Given the description of an element on the screen output the (x, y) to click on. 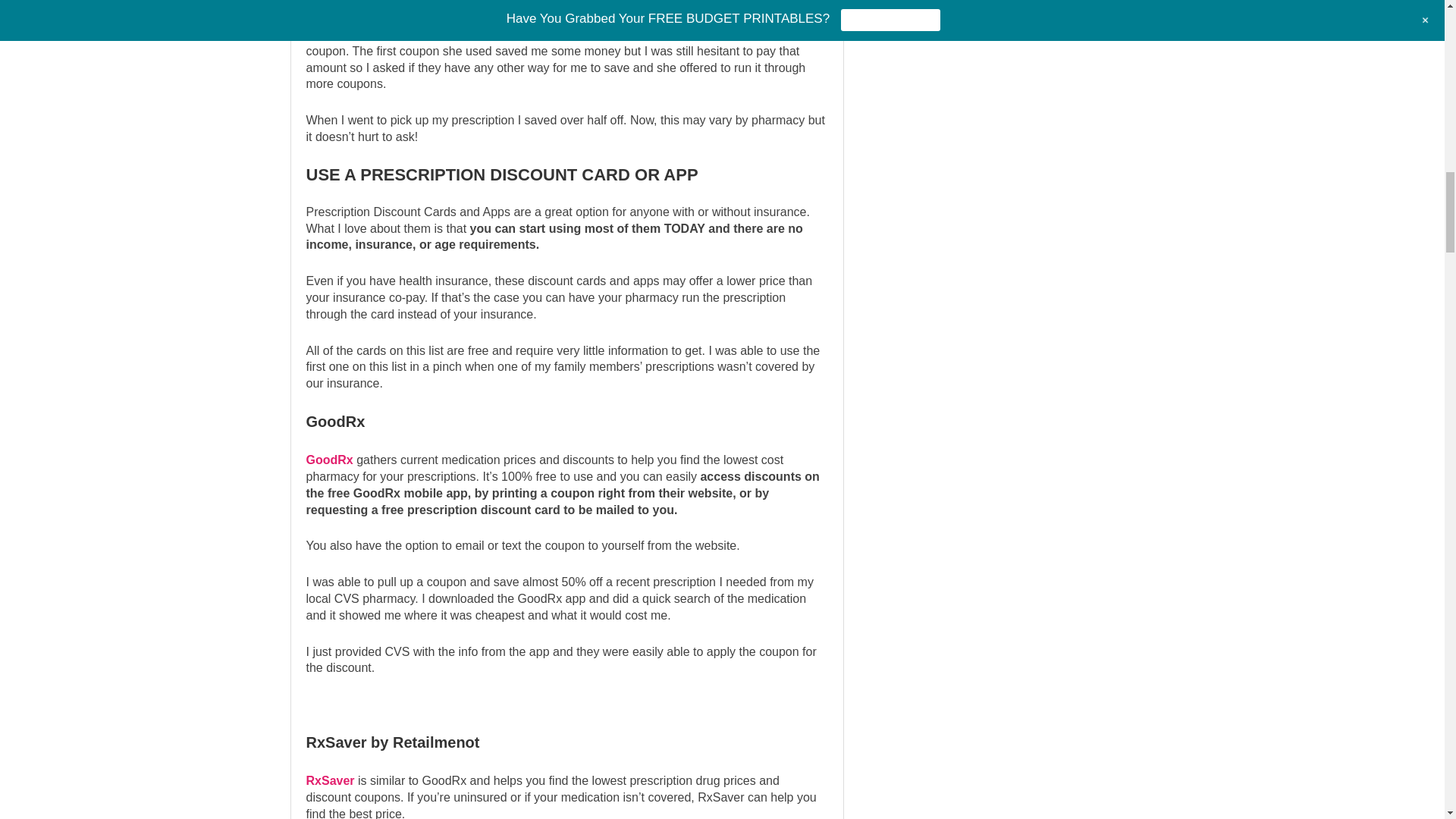
RxSaver (330, 780)
GoodRx (329, 459)
